Given the description of an element on the screen output the (x, y) to click on. 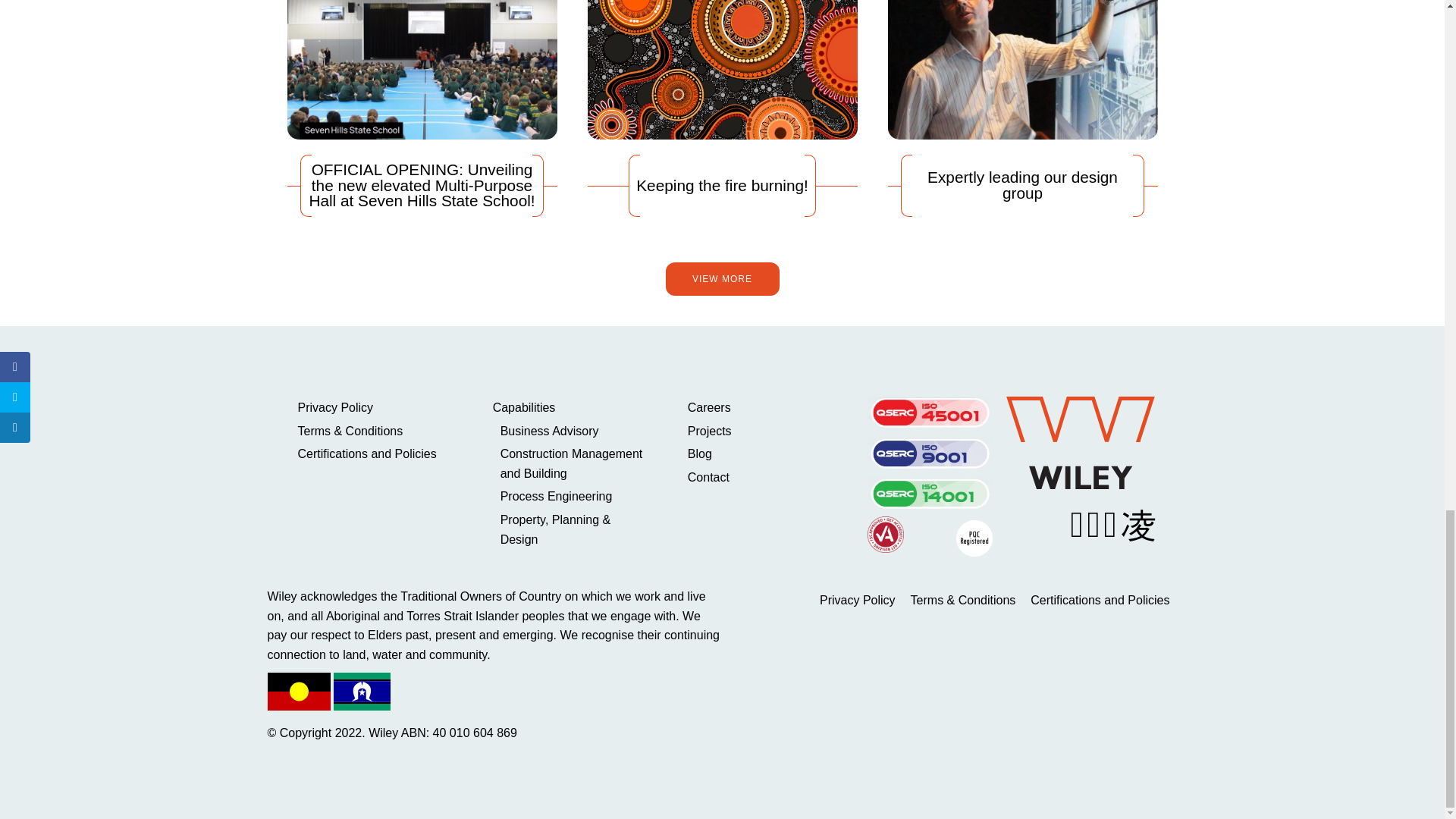
Privacy Policy (375, 407)
Privacy Policy (857, 600)
Keeping the fire burning! (721, 108)
Privacy Policy (375, 407)
Certifications and Policies (375, 454)
Construction Management and Building (574, 463)
Blog (765, 454)
Certifications and Policies (375, 454)
Careers (765, 407)
Contact (765, 477)
Construction Management and Building (574, 463)
Capabilities (571, 407)
Expertly leading our design group (1021, 108)
Blog (765, 454)
Process Engineering (574, 496)
